Given the description of an element on the screen output the (x, y) to click on. 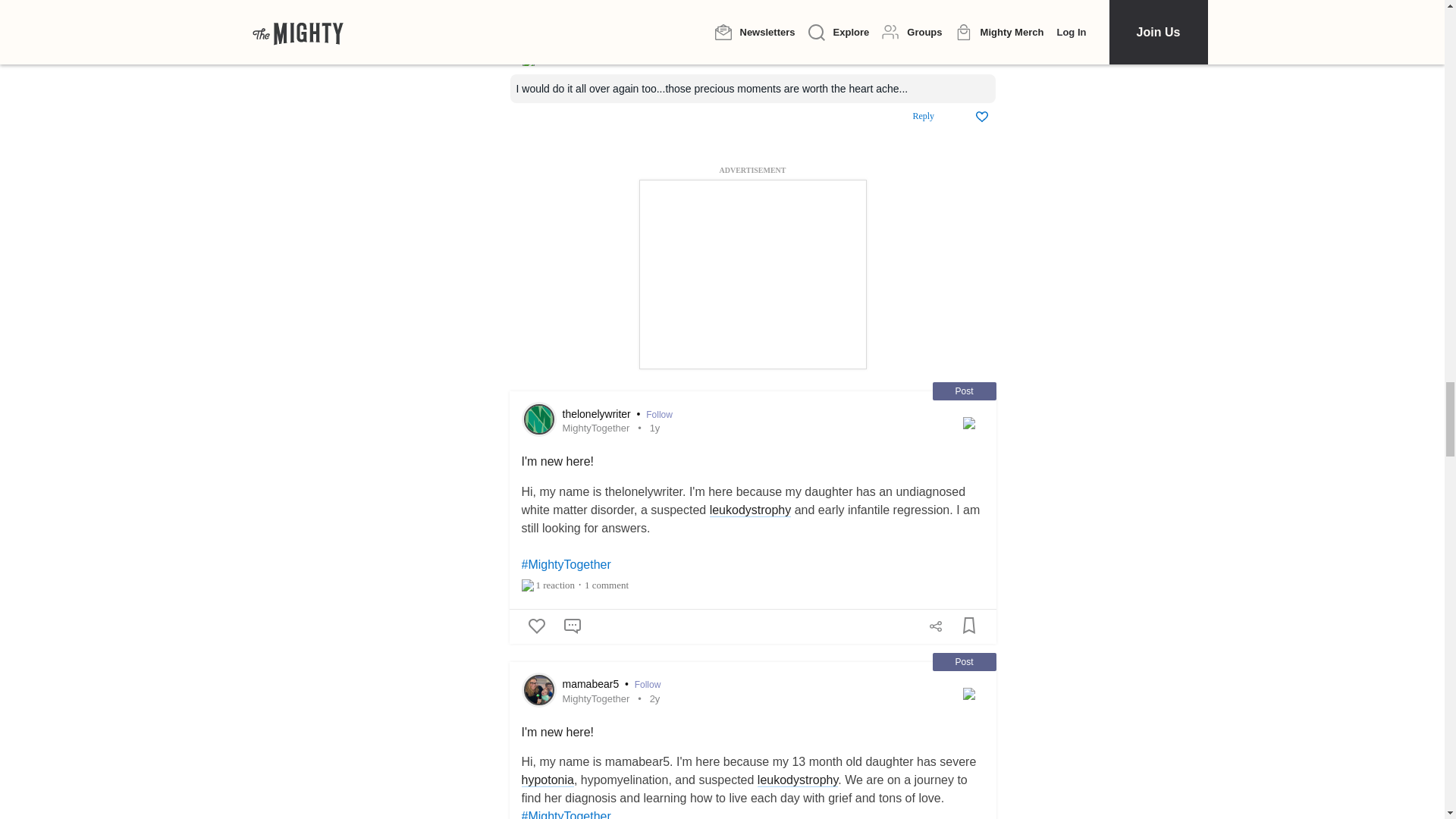
Visit thelonelywriter's profile (537, 419)
leukodystrophy (751, 509)
Visit mamabear5's profile (537, 689)
March 15, 2023 (655, 428)
